Given the description of an element on the screen output the (x, y) to click on. 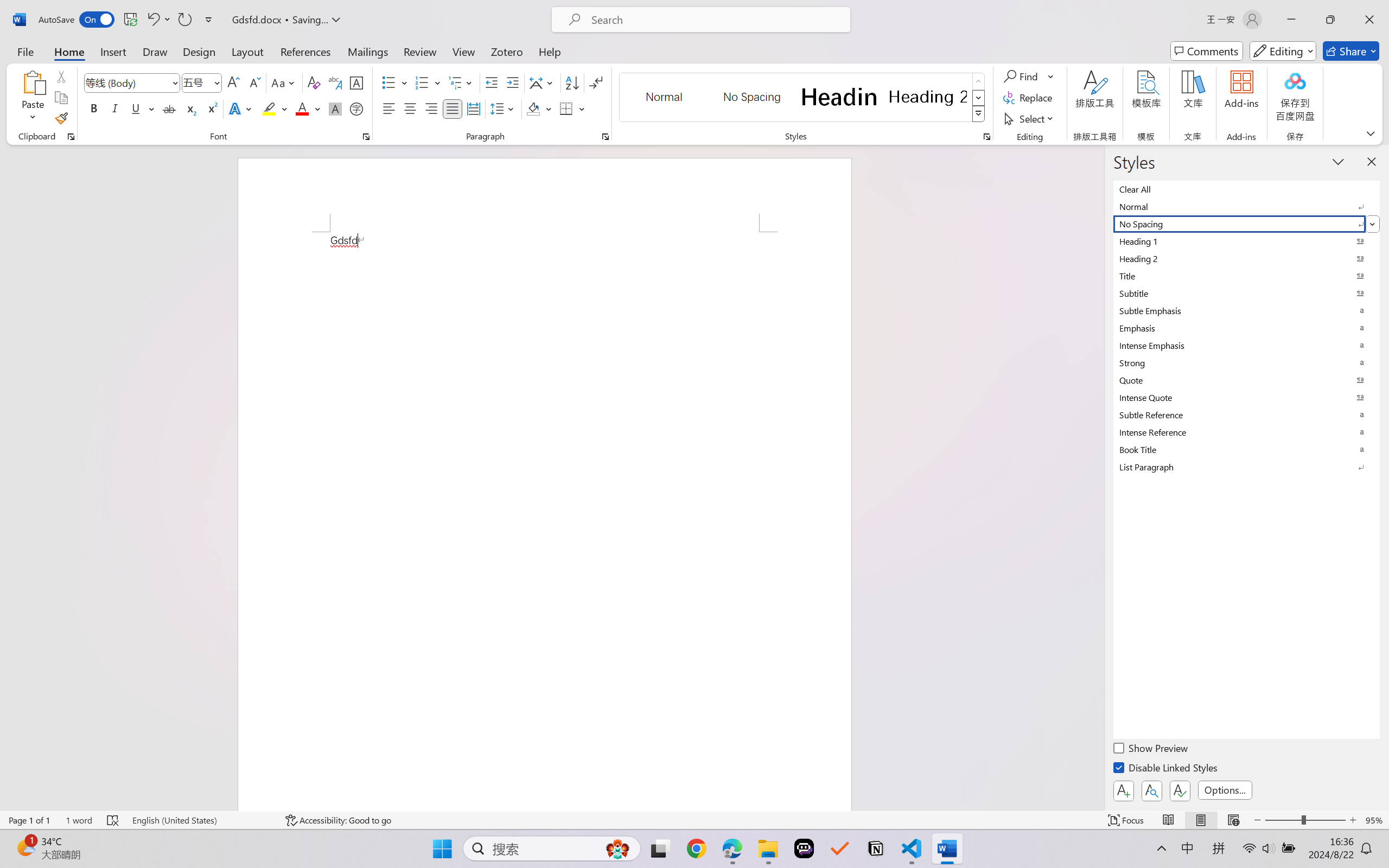
Grow Font (233, 82)
Line and Paragraph Spacing (503, 108)
Subtle Emphasis (1246, 310)
Font Color Red (302, 108)
Row up (978, 81)
Title (1246, 275)
Page 1 content (544, 521)
